Given the description of an element on the screen output the (x, y) to click on. 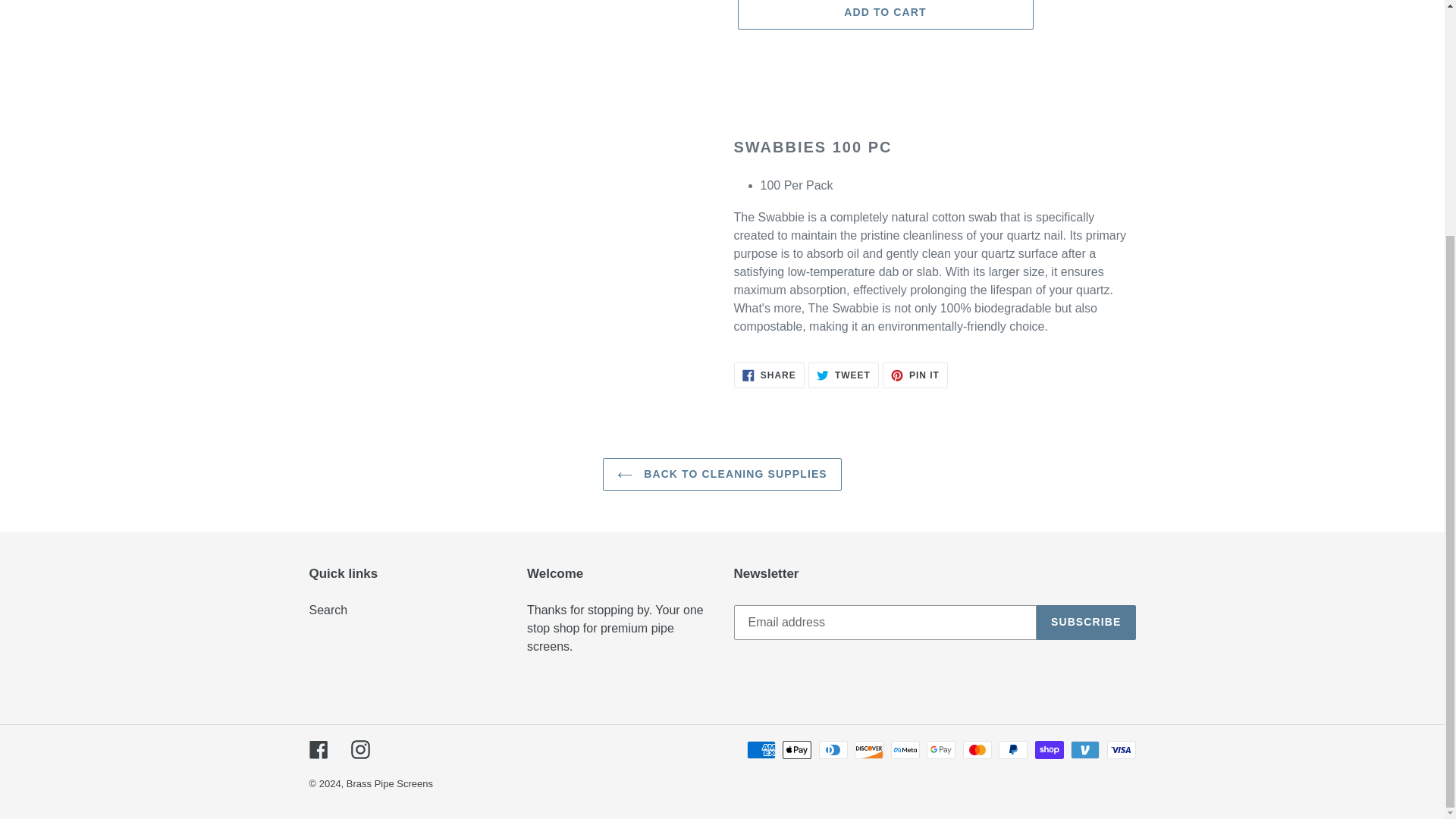
Search (843, 375)
ADD TO CART (327, 609)
BACK TO CLEANING SUPPLIES (884, 14)
